Given the description of an element on the screen output the (x, y) to click on. 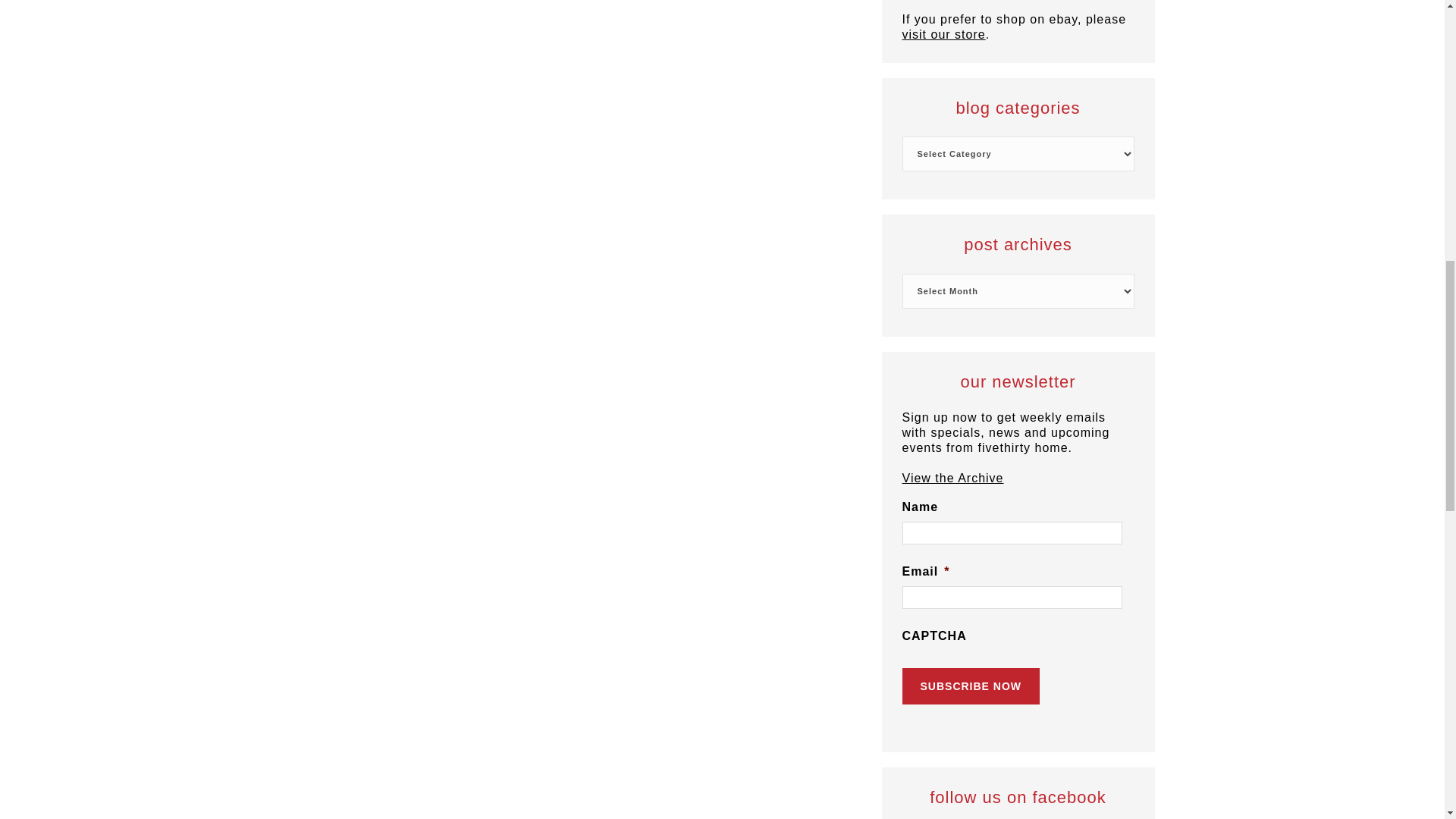
visit our store (943, 33)
Subscribe Now (971, 686)
